Given the description of an element on the screen output the (x, y) to click on. 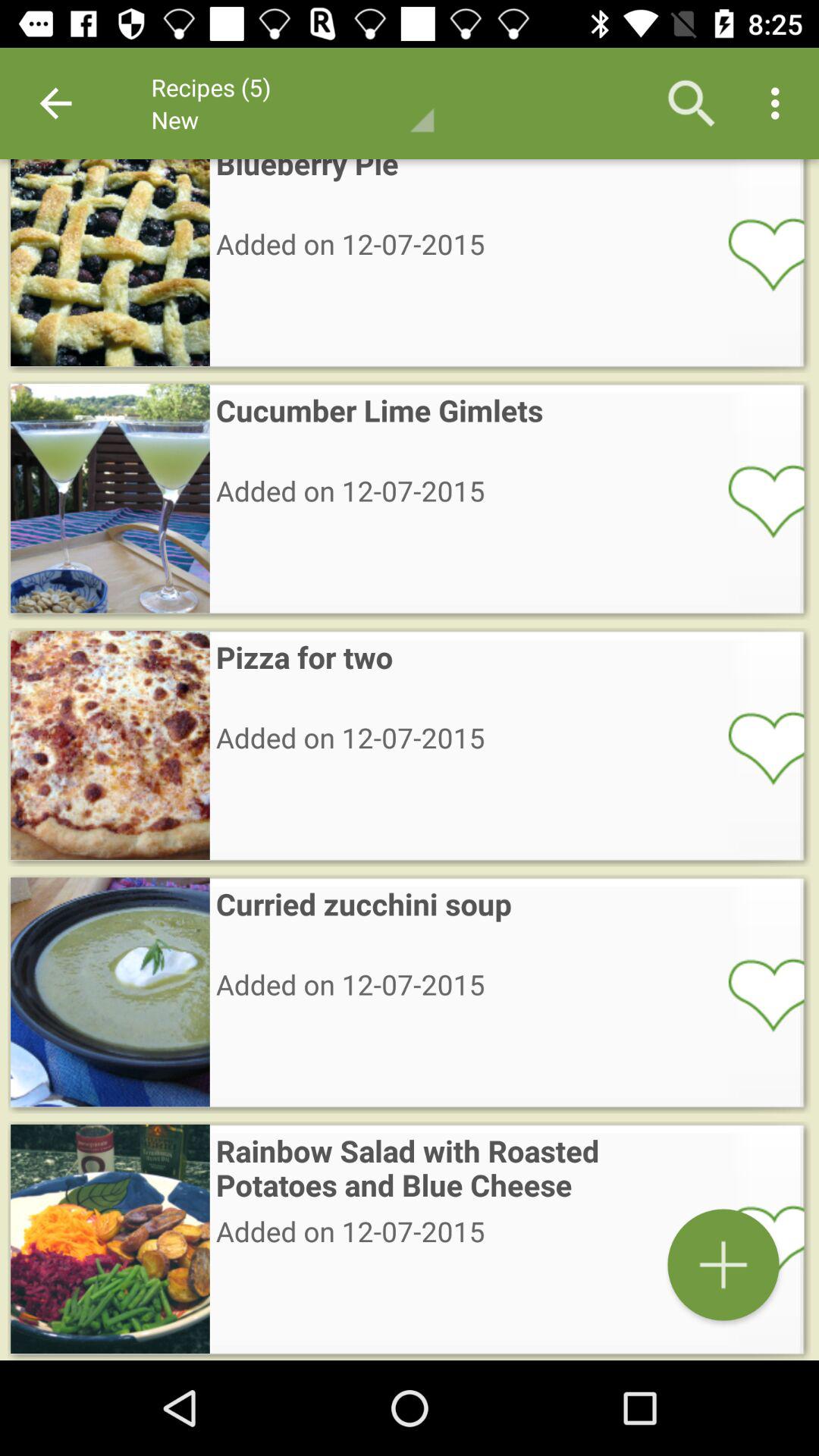
add to favorites (756, 500)
